Given the description of an element on the screen output the (x, y) to click on. 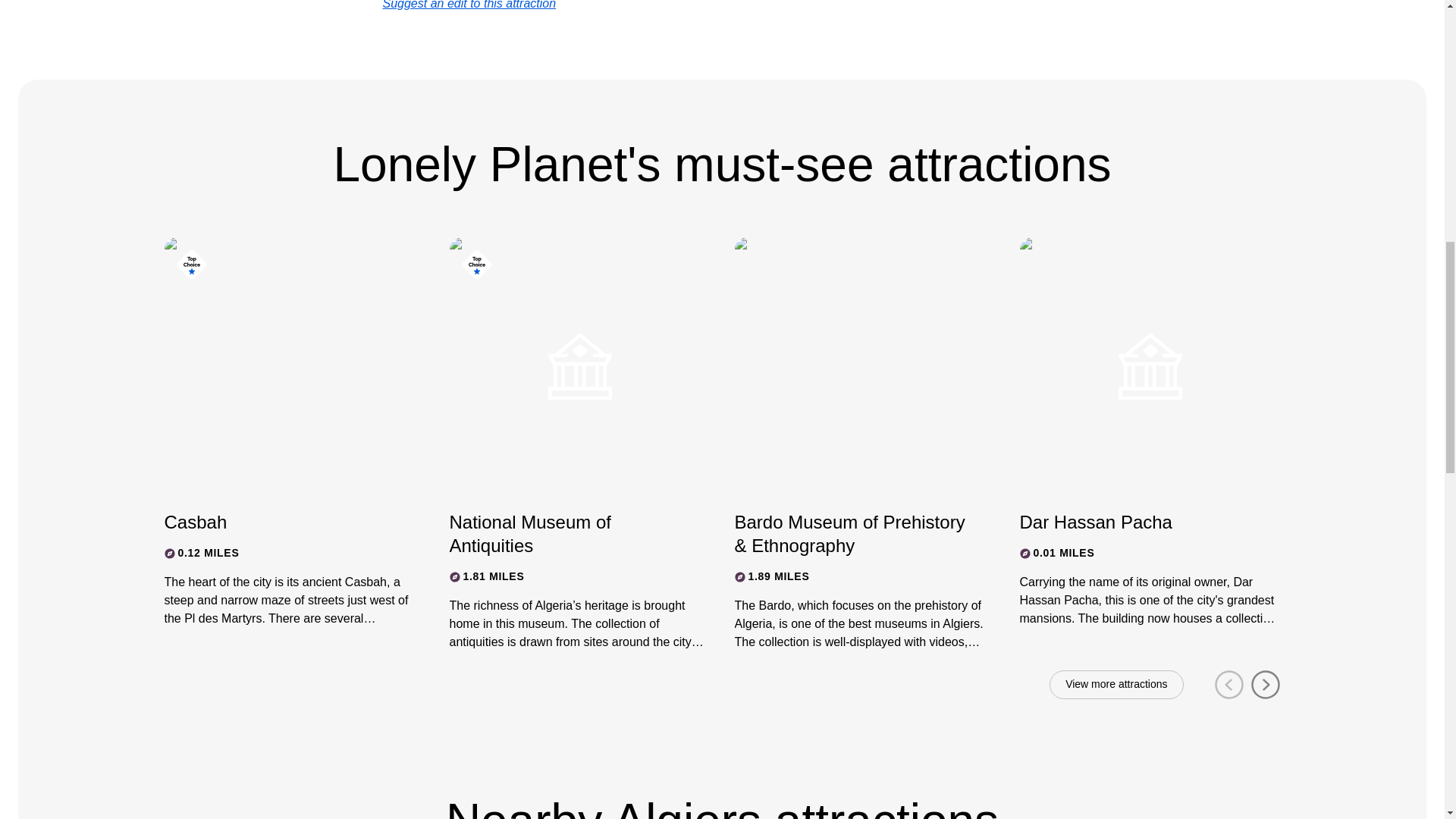
Casbah (280, 521)
Suggest an edit to this attraction (468, 4)
View more attractions (1115, 684)
National Museum of Antiquities (566, 533)
Dar Hassan Pacha (1136, 521)
